Given the description of an element on the screen output the (x, y) to click on. 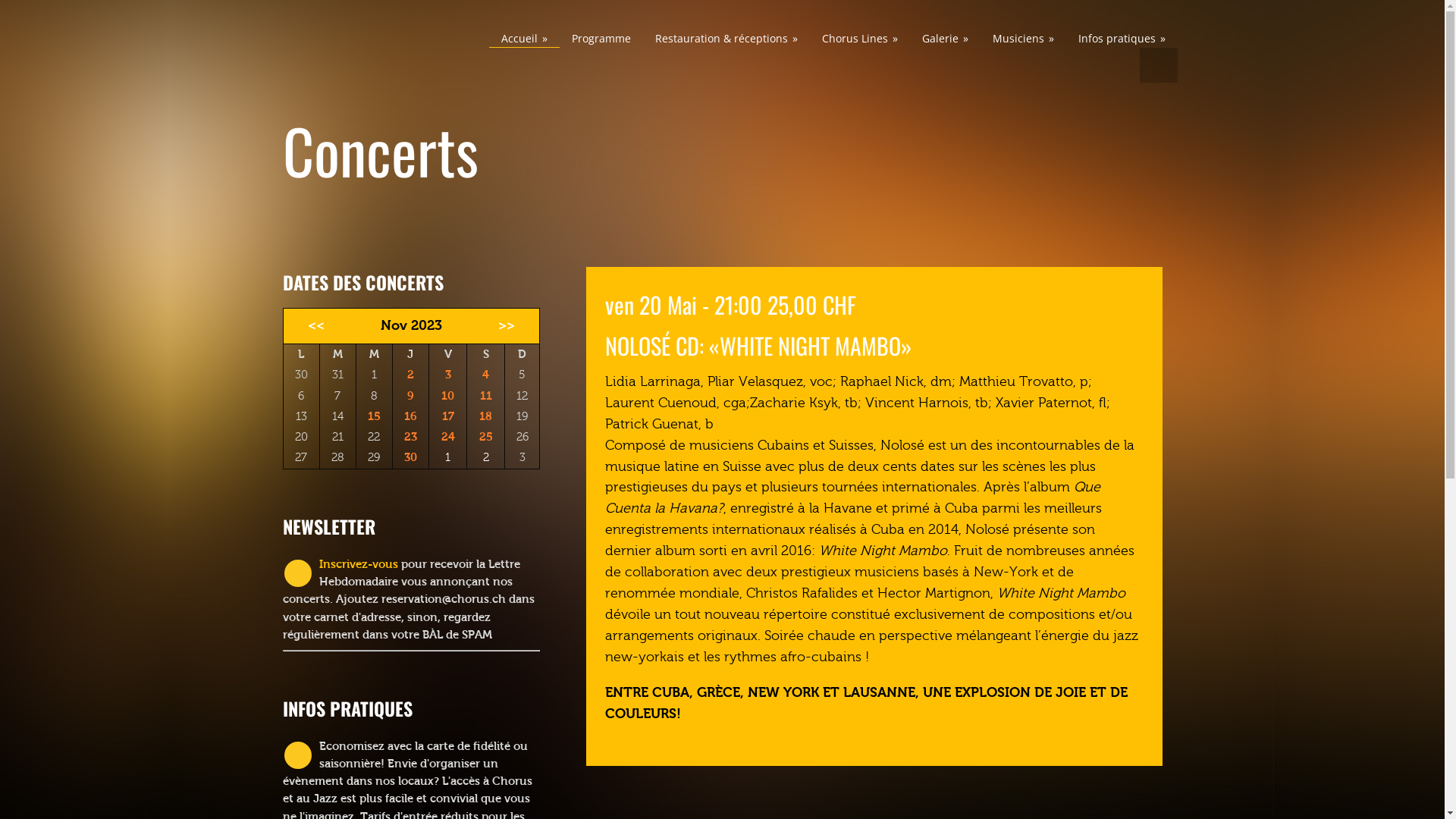
2 Element type: text (410, 374)
30 Element type: text (410, 457)
9 Element type: text (410, 395)
Programme Element type: text (601, 38)
15 Element type: text (373, 416)
17 Element type: text (448, 416)
>> Element type: text (511, 325)
4 Element type: text (485, 374)
23 Element type: text (410, 436)
1 Element type: text (447, 457)
18 Element type: text (485, 416)
Inscrivez-vous Element type: text (357, 564)
24 Element type: text (448, 436)
10 Element type: text (447, 395)
16 Element type: text (410, 416)
11 Element type: text (486, 395)
2 Element type: text (486, 457)
25 Element type: text (485, 436)
3 Element type: text (448, 374)
<< Element type: text (311, 325)
